Given the description of an element on the screen output the (x, y) to click on. 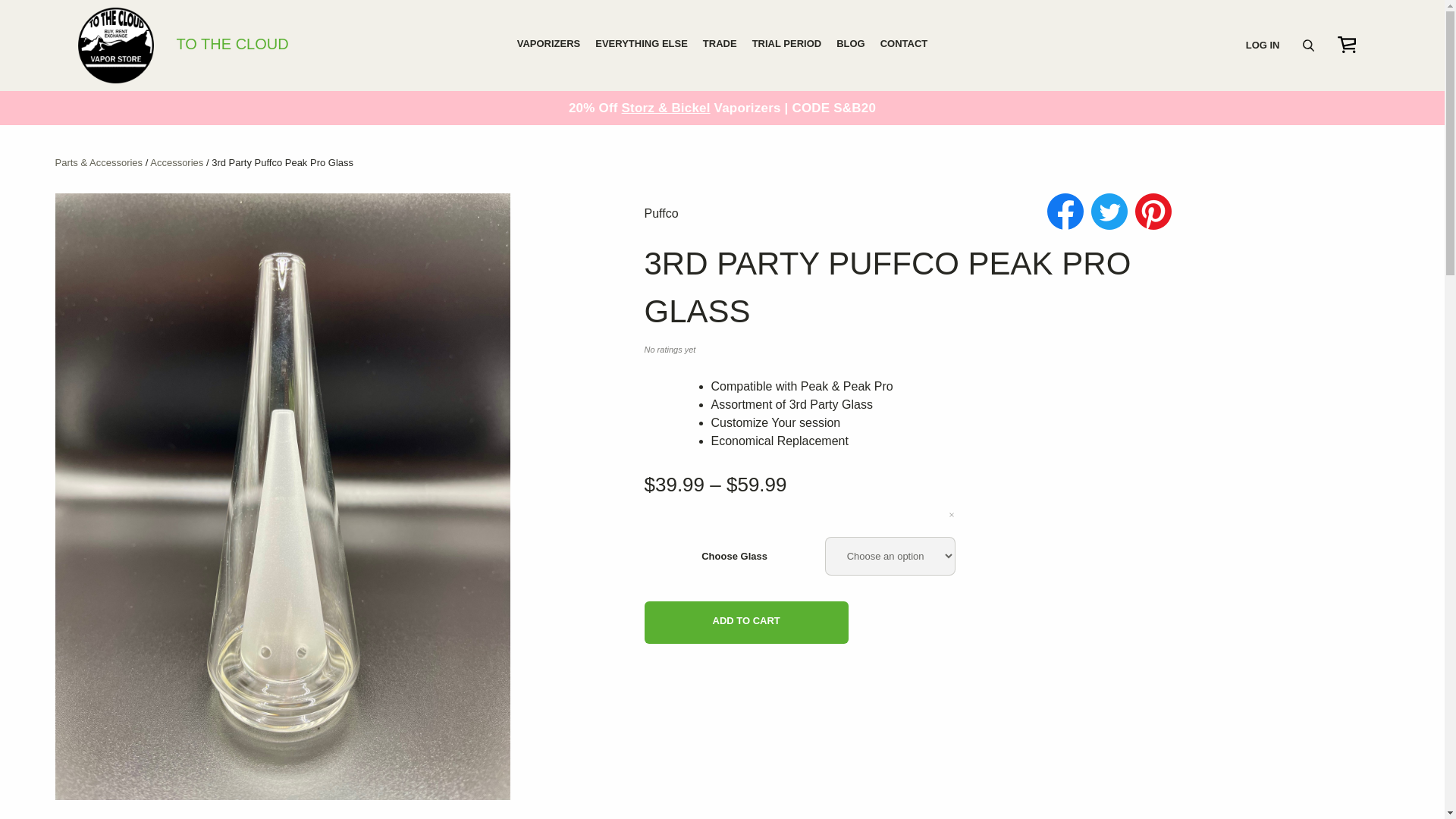
EVERYTHING ELSE (641, 43)
Puffco at To The Cloud Vapor Store (661, 213)
1 (725, 620)
